Given the description of an element on the screen output the (x, y) to click on. 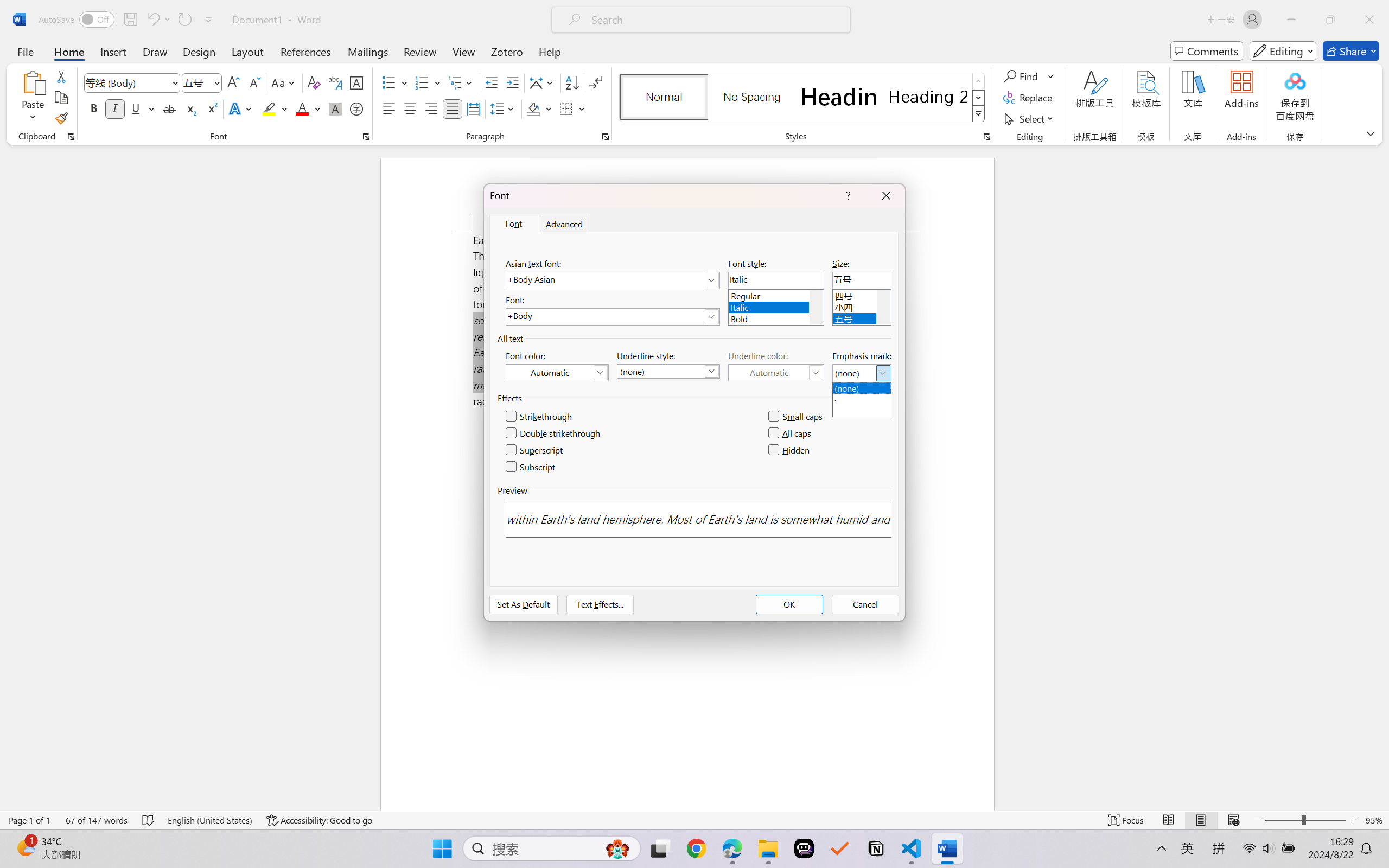
Select (1030, 118)
Office Clipboard... (70, 136)
Line and Paragraph Spacing (503, 108)
Underline Color (Automatic) (775, 372)
Cut (60, 75)
Italic (115, 108)
Set As Default (523, 603)
